Given the description of an element on the screen output the (x, y) to click on. 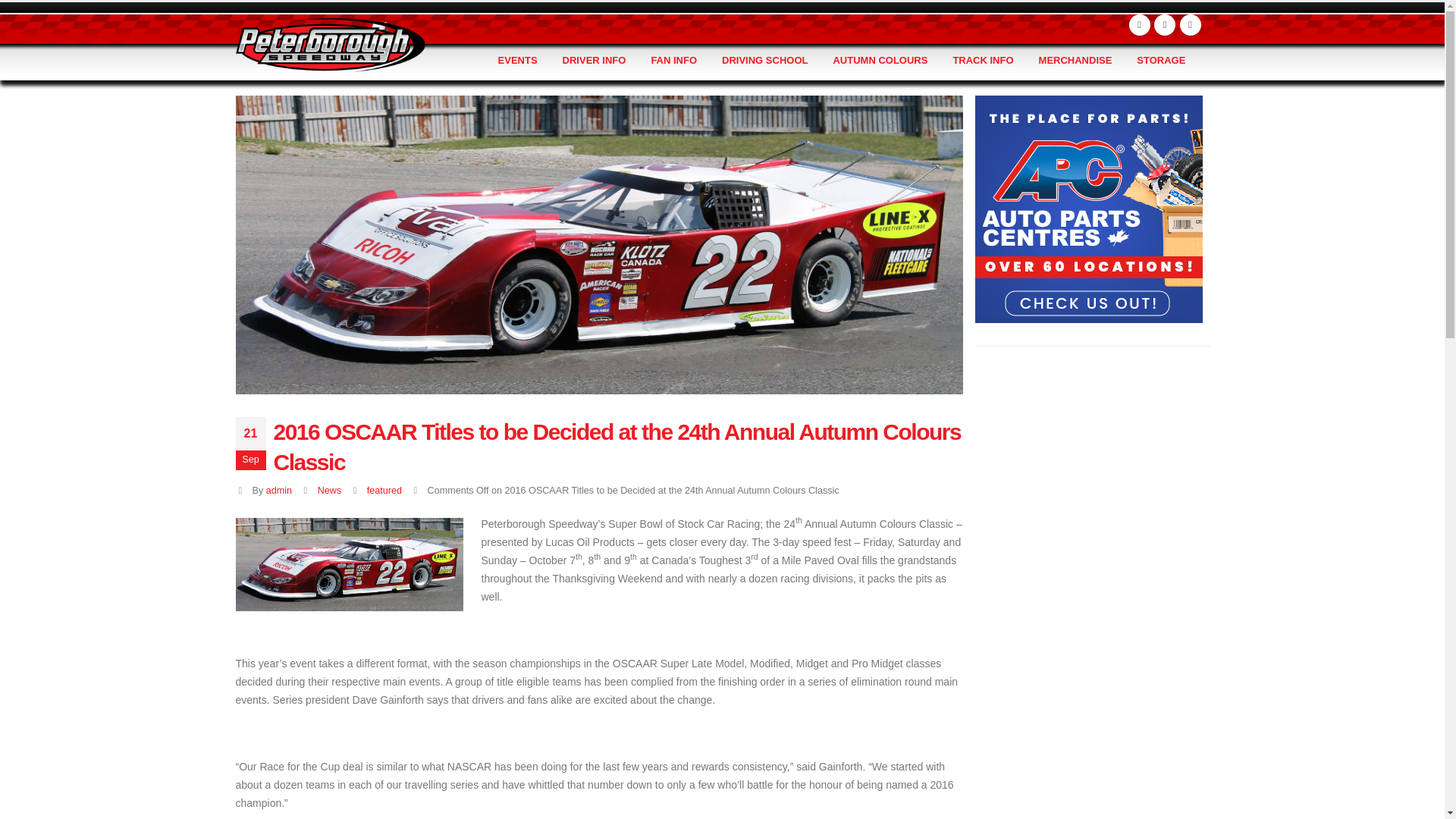
EVENTS (518, 60)
DRIVER INFO (594, 60)
FAN INFO (674, 60)
Posts by admin (279, 490)
Instagram (1190, 25)
Peterborough Speedway -  (329, 44)
Youtube (1164, 25)
Facebook (1139, 25)
DRIVING SCHOOL (764, 60)
AUTUMN COLOURS (880, 60)
